Given the description of an element on the screen output the (x, y) to click on. 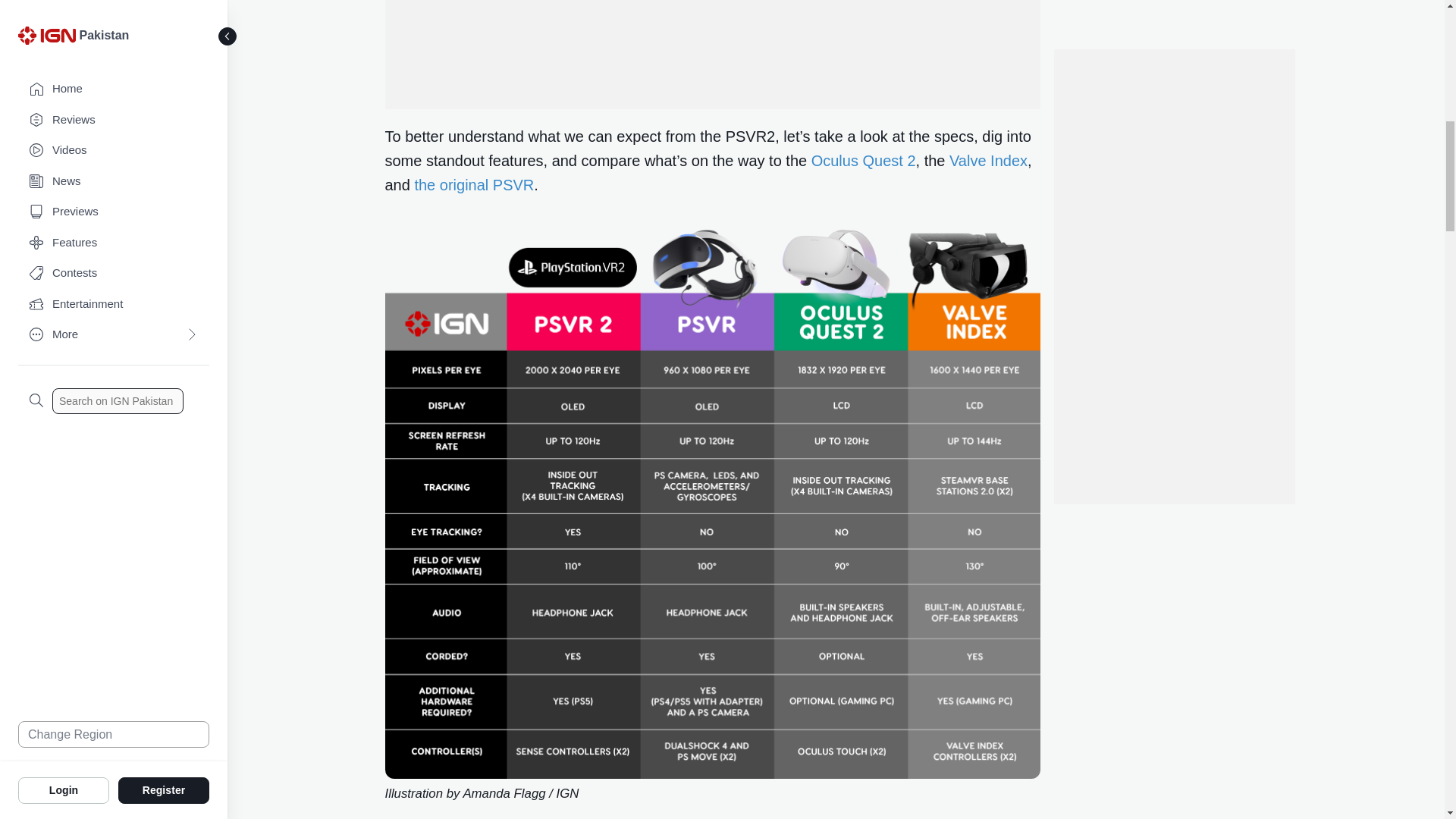
Oculus Quest 2 (862, 160)
